Given the description of an element on the screen output the (x, y) to click on. 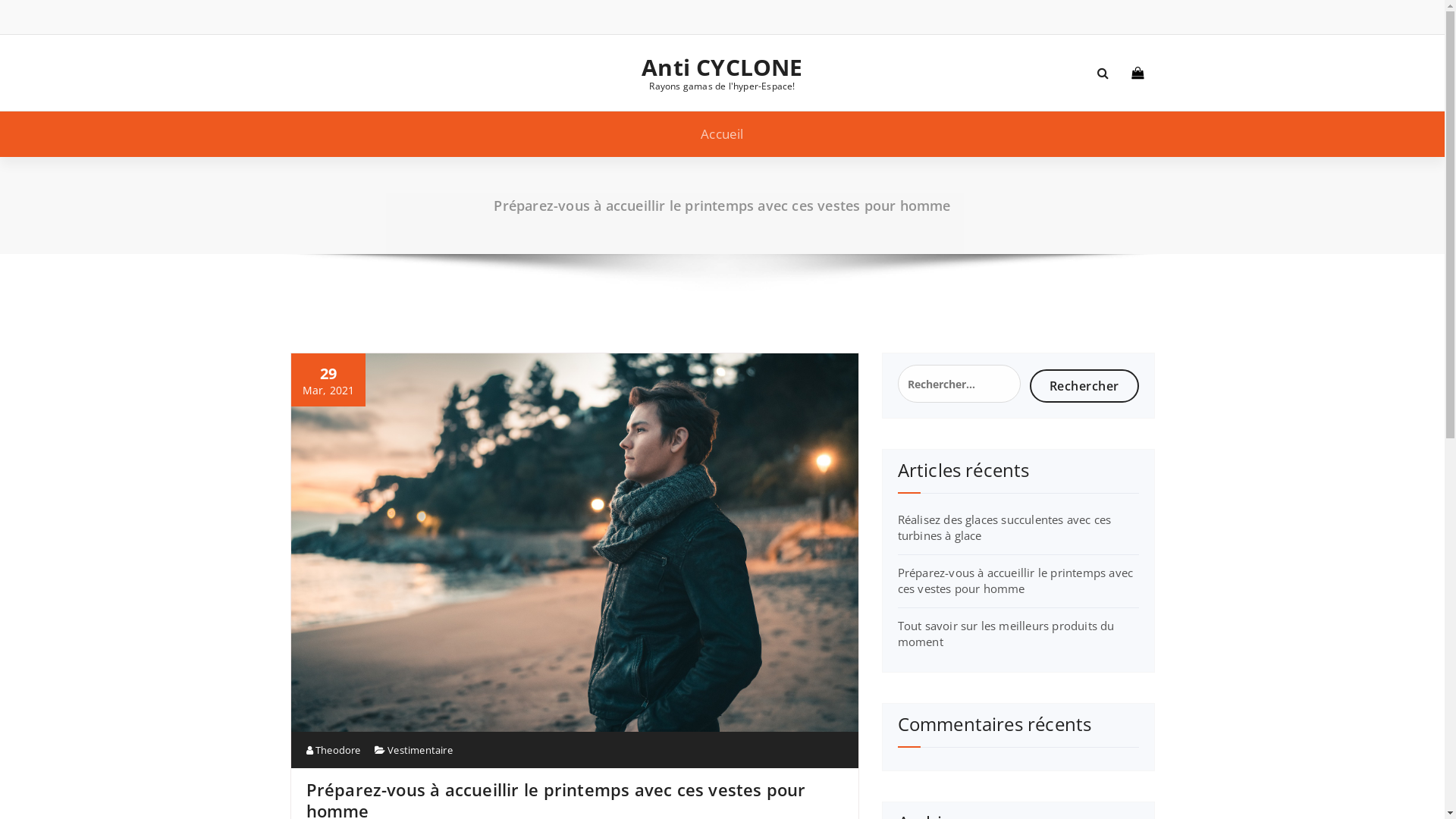
Theodore Element type: text (333, 749)
Rechercher Element type: text (1084, 384)
Vestimentaire Element type: text (419, 749)
Accueil Element type: text (721, 133)
Tout savoir sur les meilleurs produits du moment Element type: text (1005, 633)
Anti CYCLONE Element type: text (721, 67)
